Given the description of an element on the screen output the (x, y) to click on. 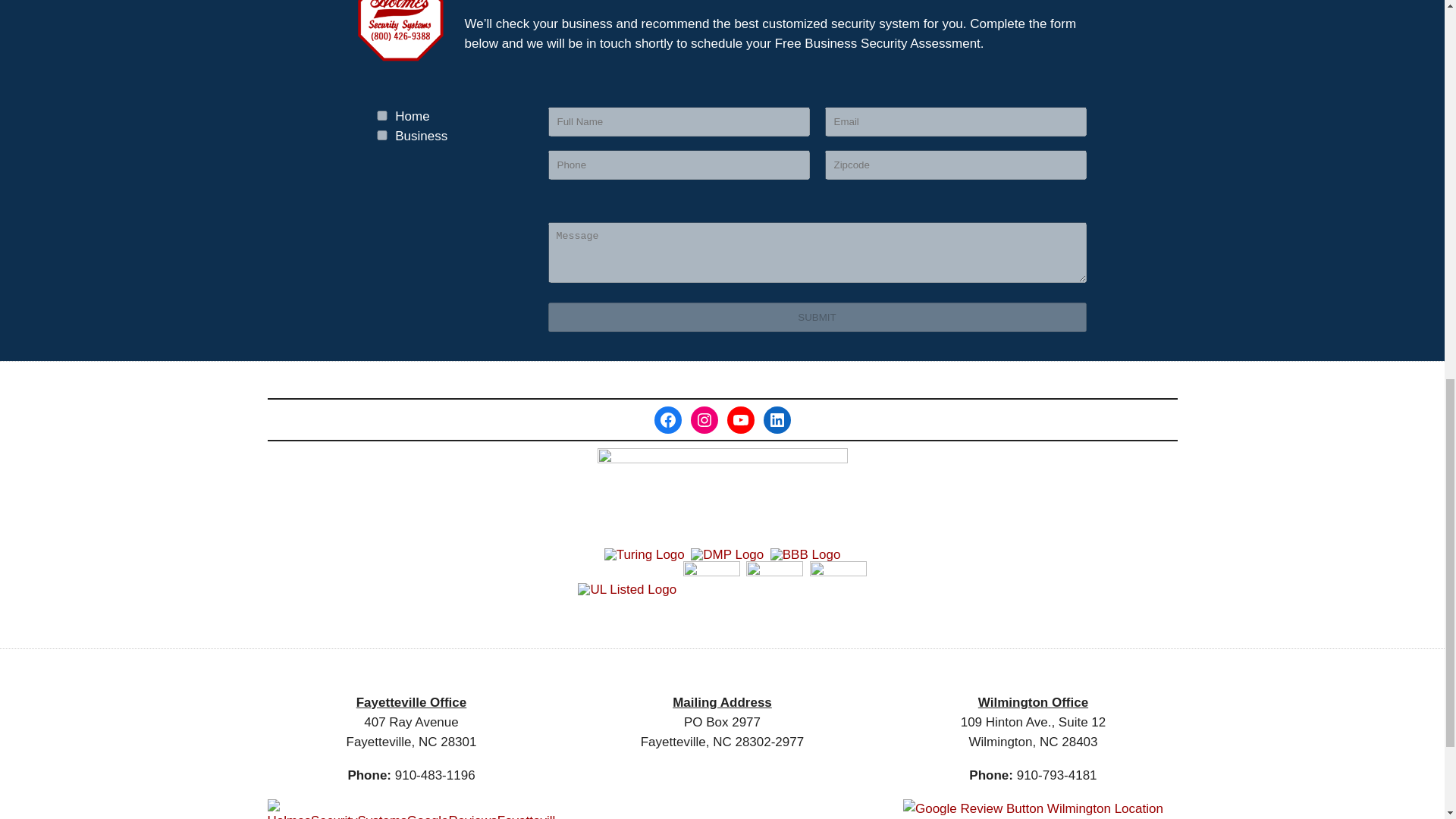
Business (382, 135)
SUBMIT (816, 317)
Home (382, 115)
